Given the description of an element on the screen output the (x, y) to click on. 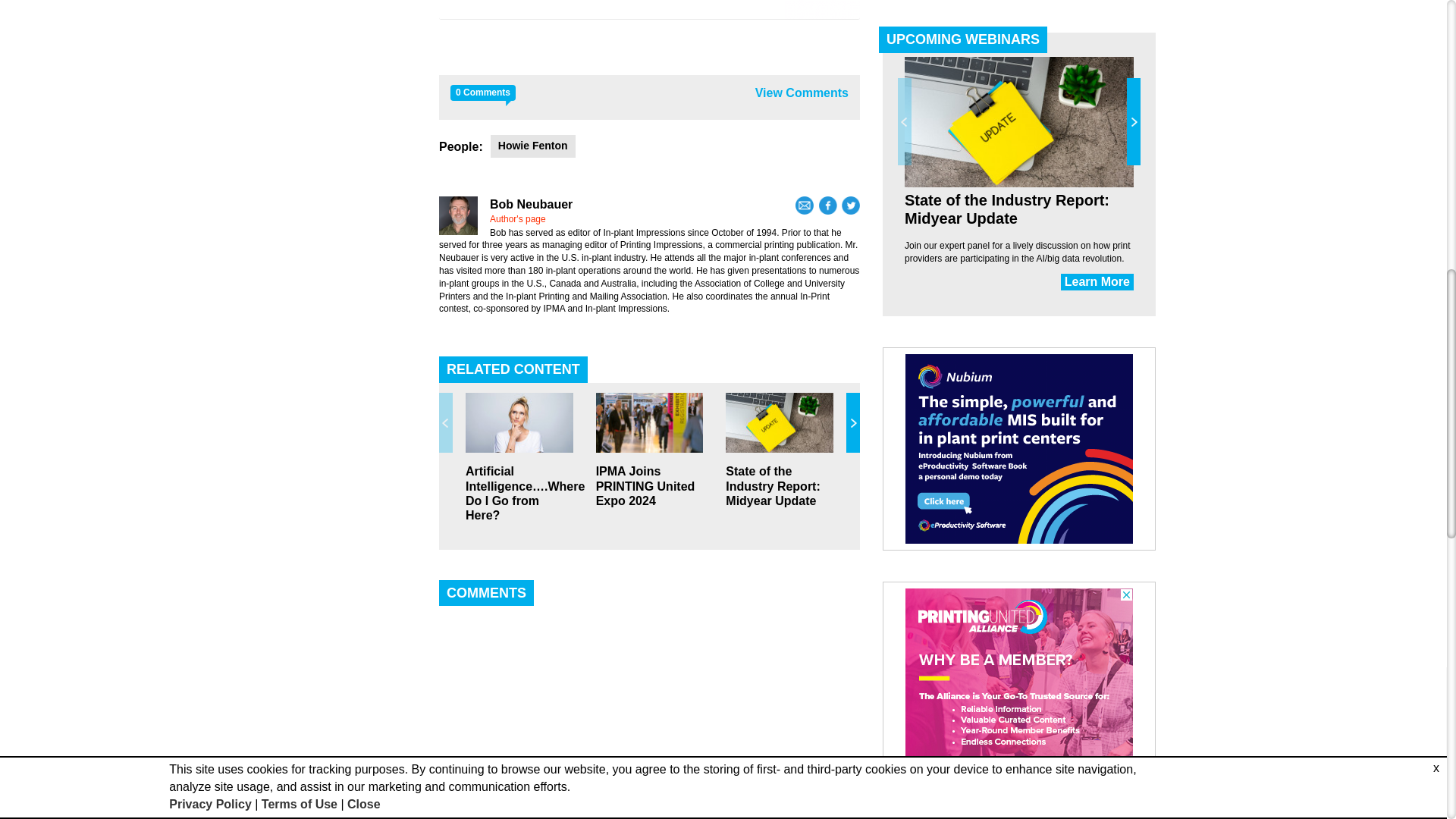
Opens in a new window (850, 205)
Opens in a new window (827, 205)
3rd party ad content (649, 9)
